Given the description of an element on the screen output the (x, y) to click on. 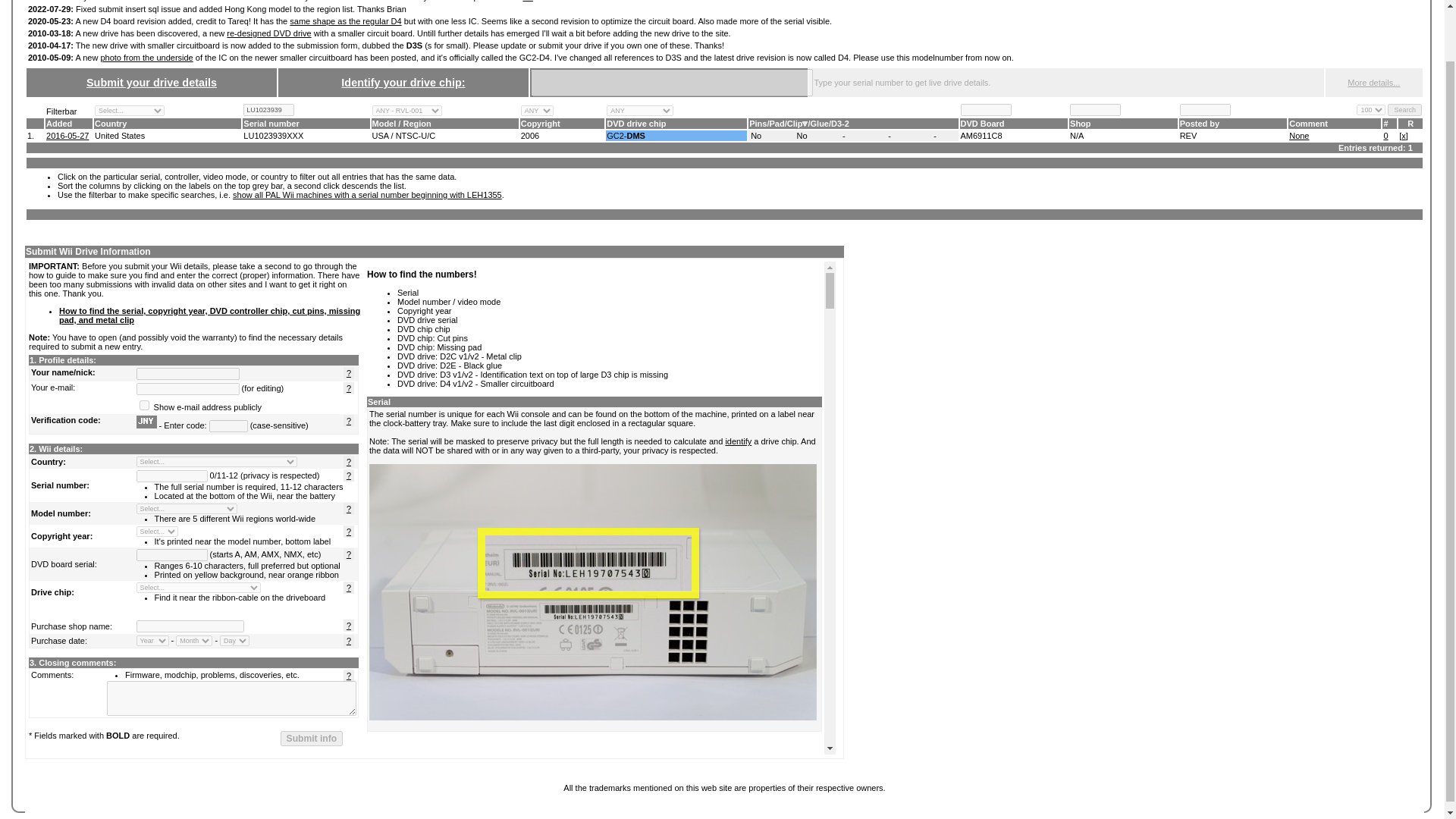
2016-05-27 (67, 135)
Posted by (1199, 122)
More details... (1373, 81)
No (802, 135)
Search (1404, 110)
GC2-DMS (626, 135)
Country (110, 122)
LU1023939 (268, 110)
Submit your drive details (150, 82)
D3-2 (839, 122)
Search (1404, 110)
photo from the underside (146, 57)
Submit info (312, 738)
Shop (1080, 122)
re-designed DVD drive (269, 32)
